Given the description of an element on the screen output the (x, y) to click on. 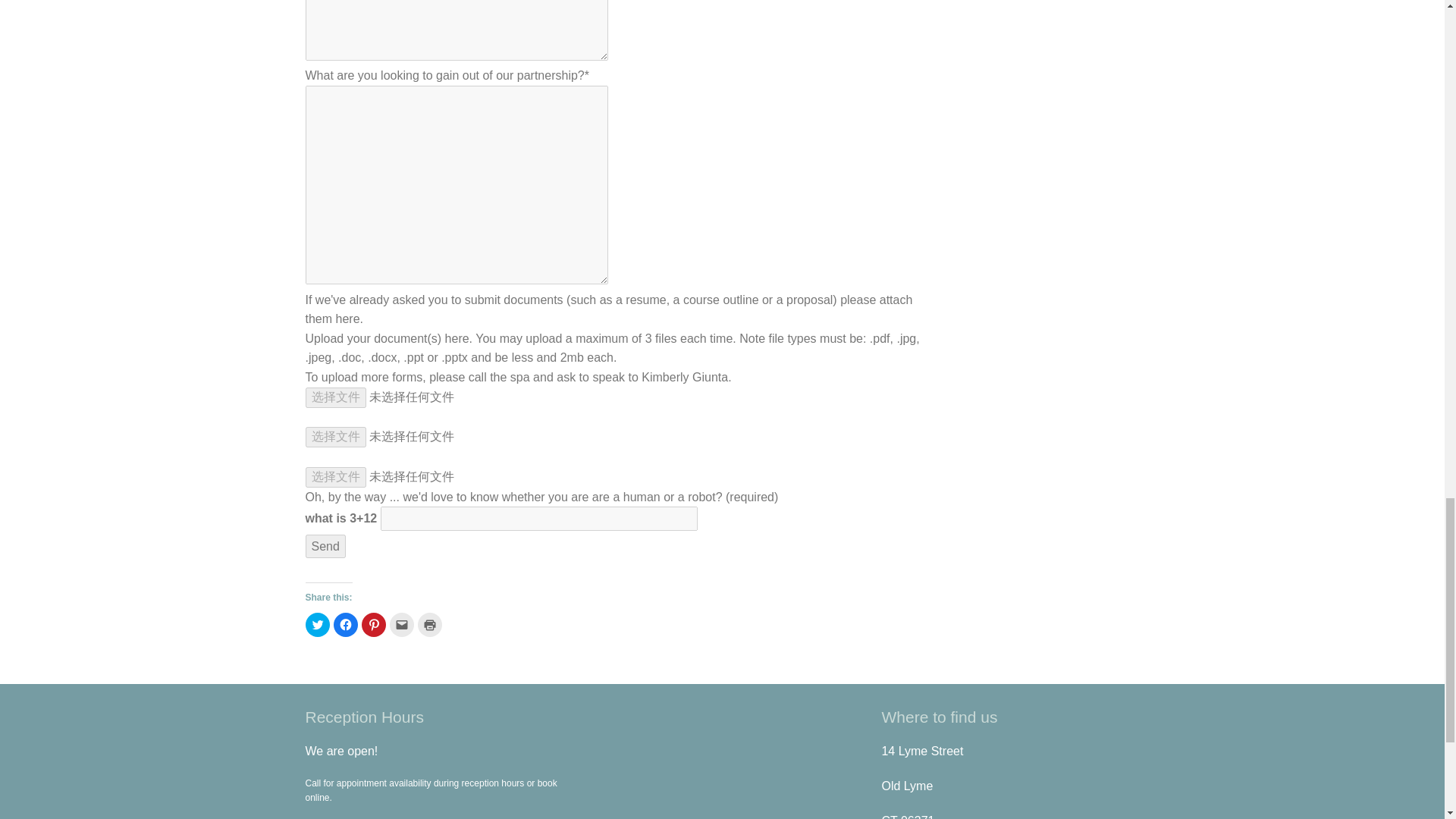
Send (324, 546)
Click to email a link to a friend (401, 624)
Click to share on Twitter (316, 624)
Send (324, 546)
Click to share on Facebook (345, 624)
Click to share on Pinterest (373, 624)
Click to print (428, 624)
